Given the description of an element on the screen output the (x, y) to click on. 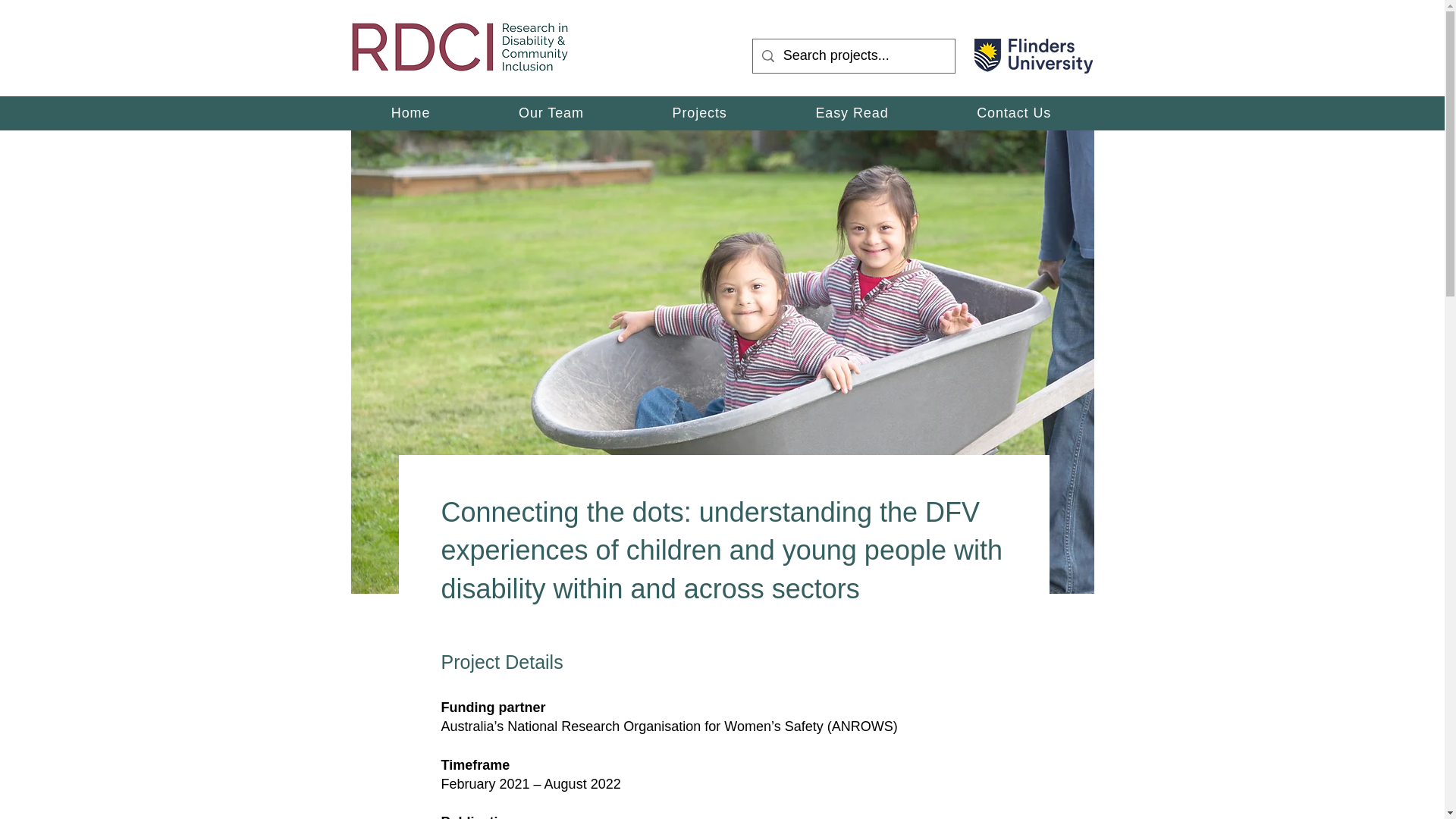
Contact Us (1014, 113)
Easy Read (852, 113)
Home (410, 113)
Flinders University website (1033, 55)
Our Team (551, 113)
